Given the description of an element on the screen output the (x, y) to click on. 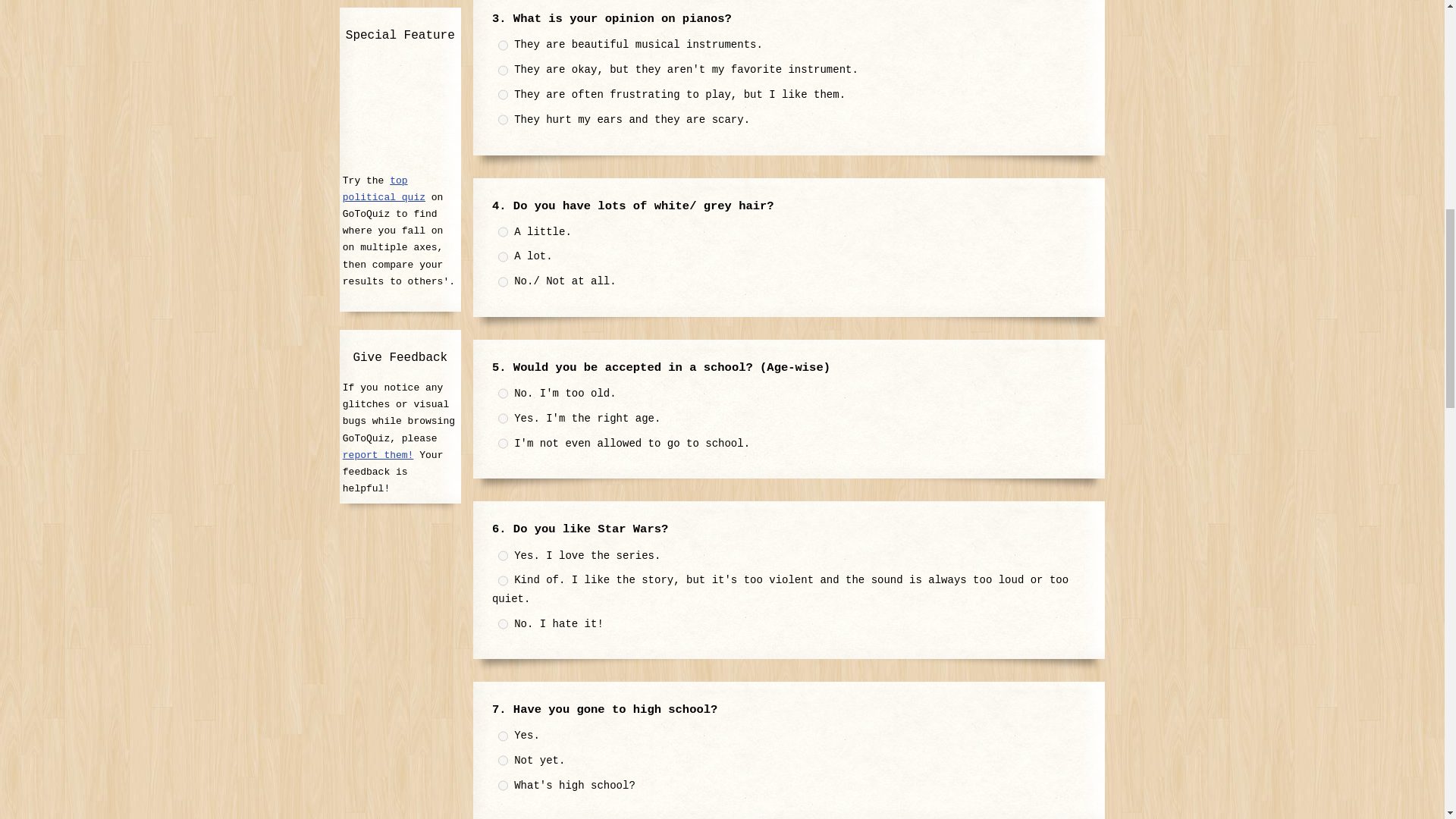
3 (502, 94)
1 (502, 45)
2 (502, 70)
report them! (377, 455)
1 (502, 555)
4 (502, 119)
3 (502, 281)
Take our featured politics quiz (400, 112)
top political quiz (383, 189)
3 (502, 443)
